Given the description of an element on the screen output the (x, y) to click on. 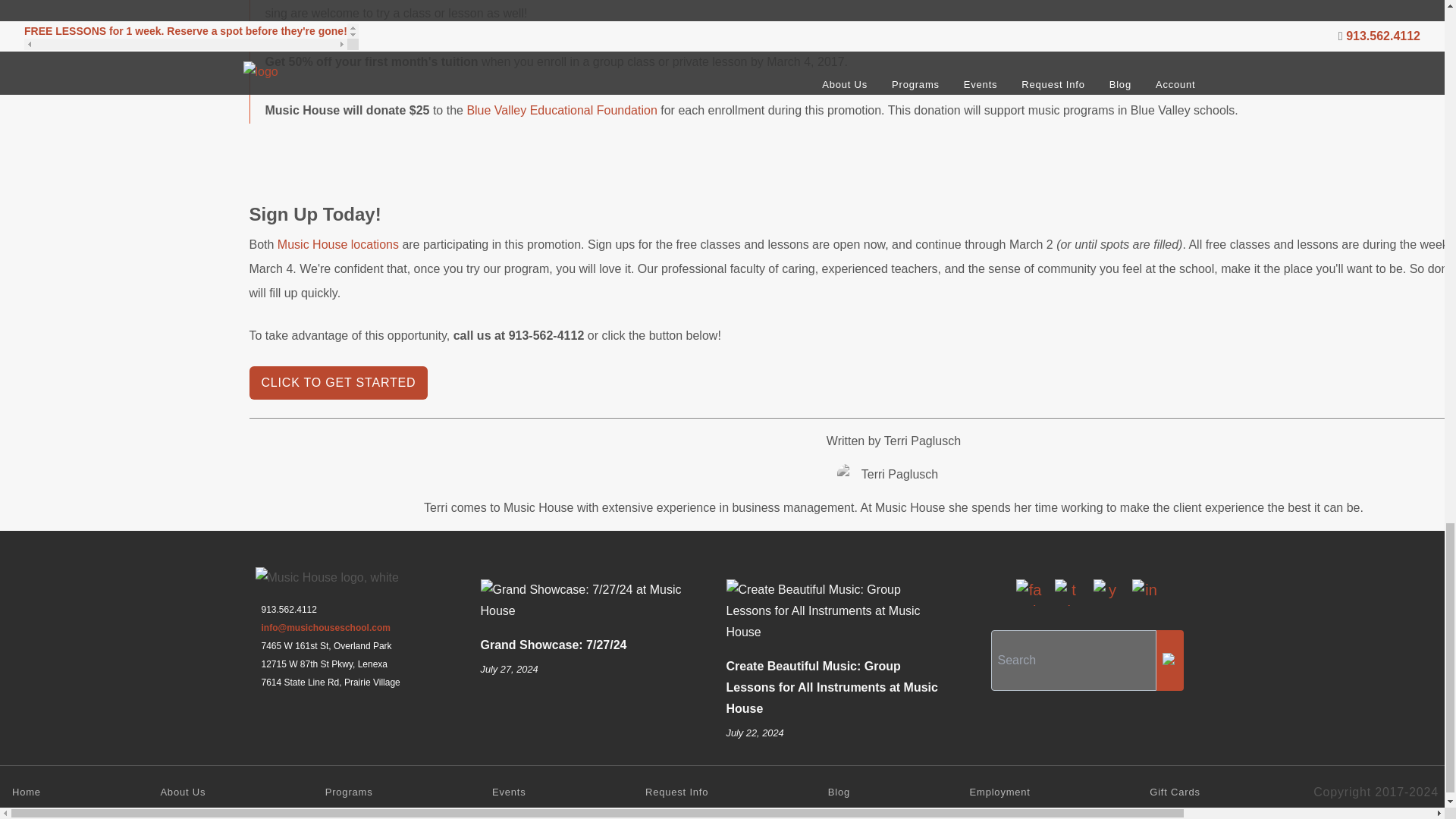
instagram (1144, 592)
facebook (1029, 592)
twitter (1067, 592)
youtube (1106, 592)
